Given the description of an element on the screen output the (x, y) to click on. 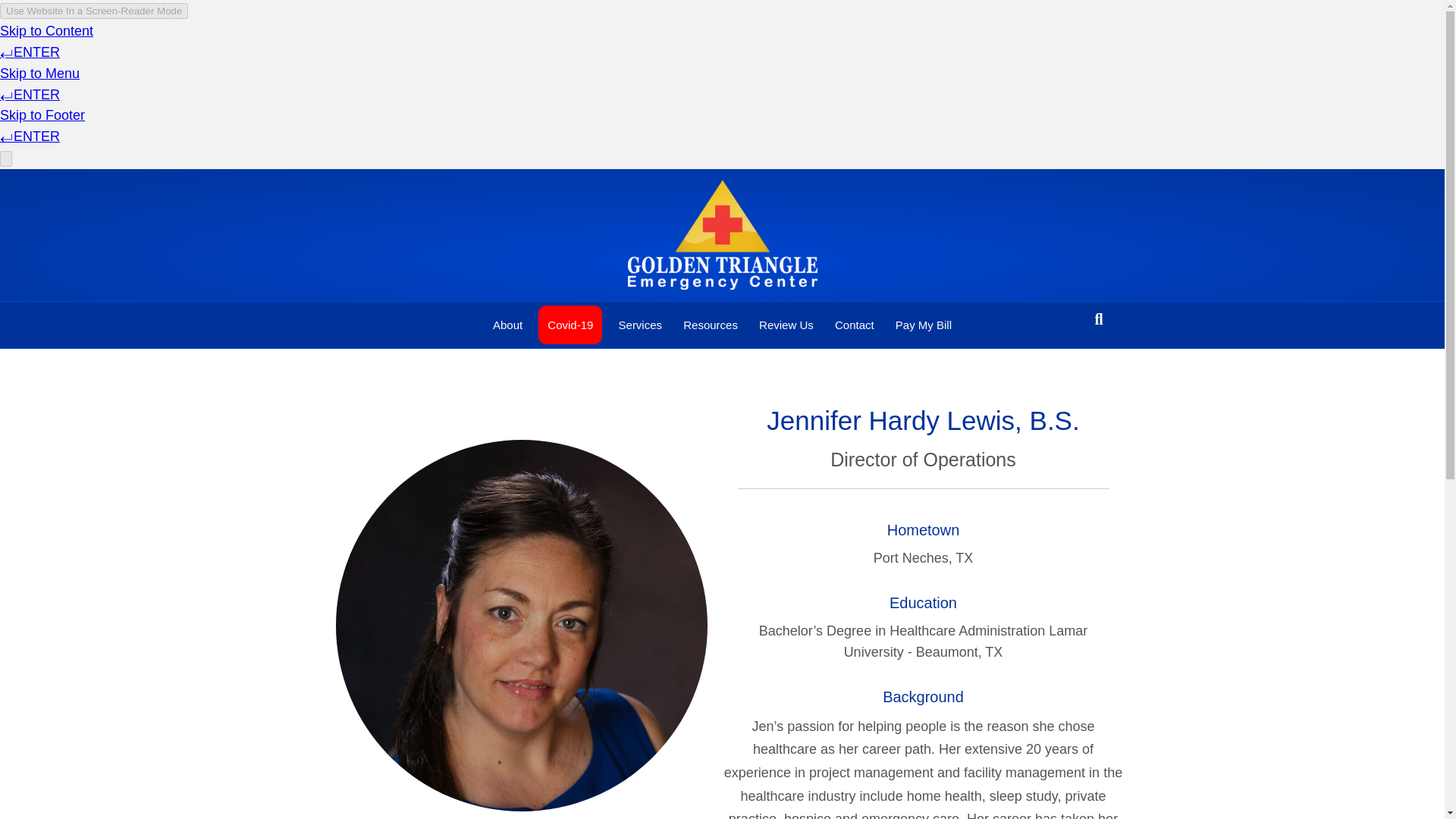
About (507, 324)
